Given the description of an element on the screen output the (x, y) to click on. 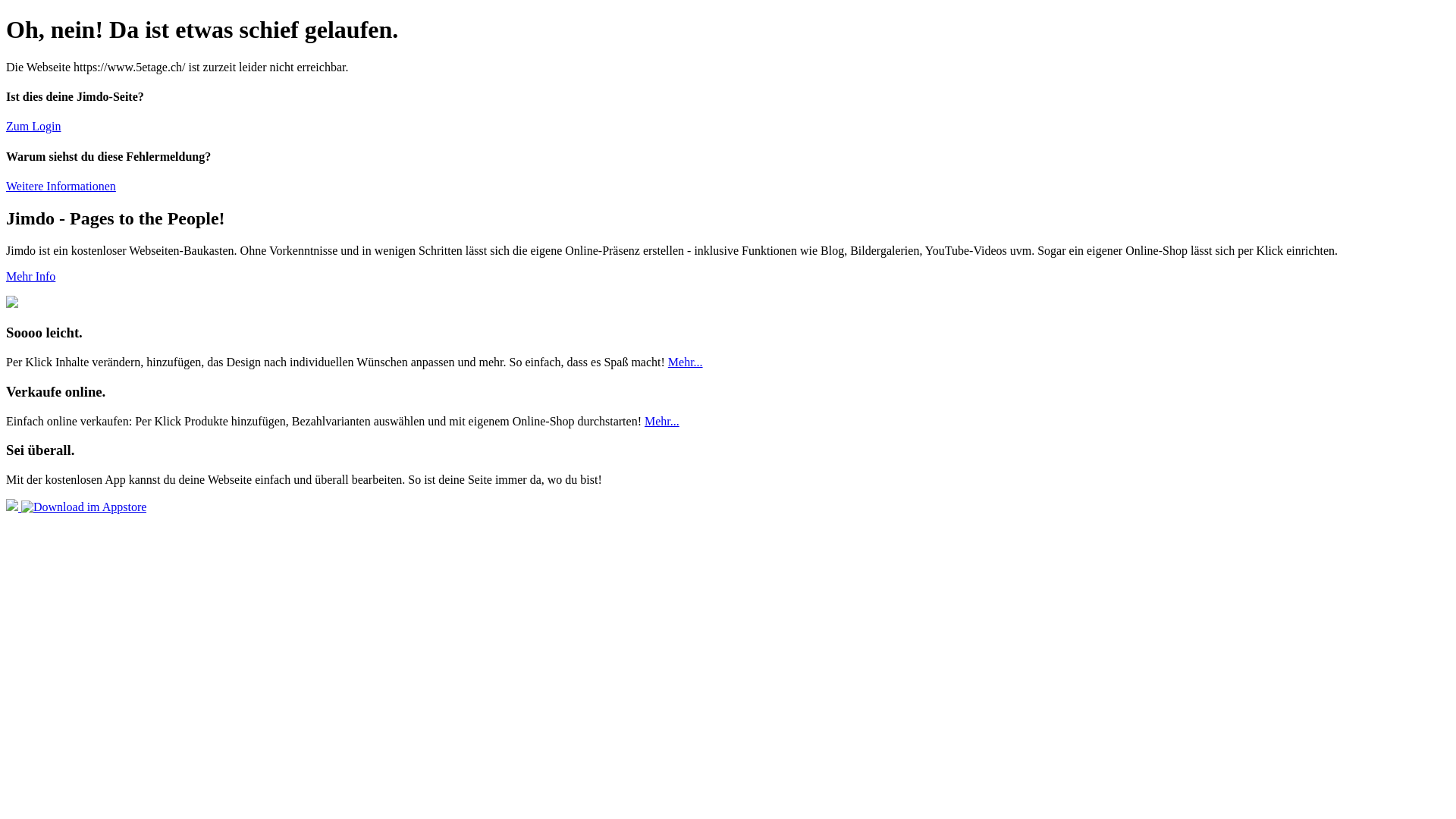
Mehr Info Element type: text (30, 275)
Weitere Informationen Element type: text (61, 185)
Mehr... Element type: text (685, 361)
Mehr... Element type: text (661, 420)
Zum Login Element type: text (33, 125)
